Given the description of an element on the screen output the (x, y) to click on. 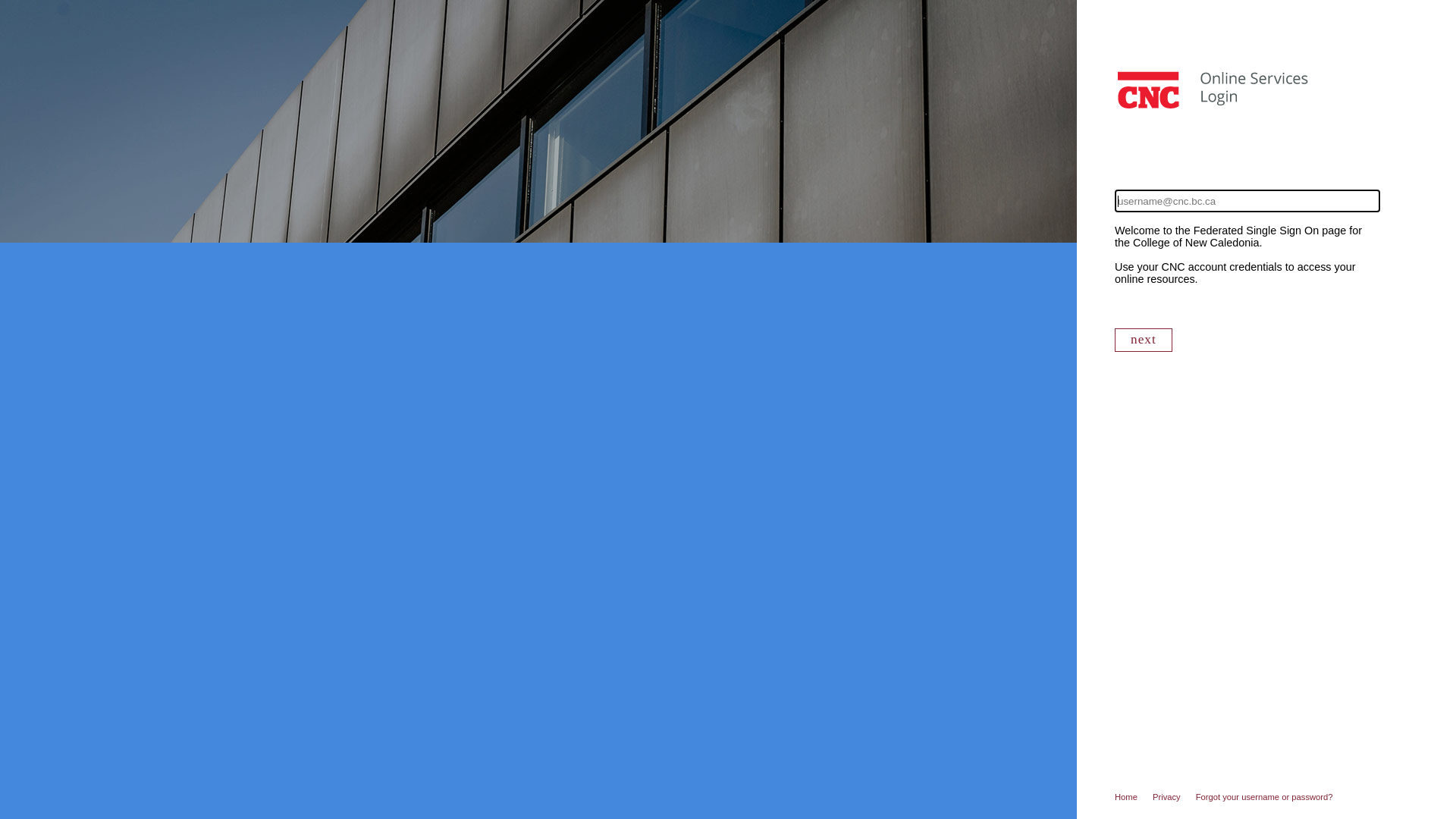
Privacy Element type: text (1173, 796)
next Element type: text (1143, 339)
Forgot your username or password? Element type: text (1271, 796)
Home Element type: text (1133, 796)
